Given the description of an element on the screen output the (x, y) to click on. 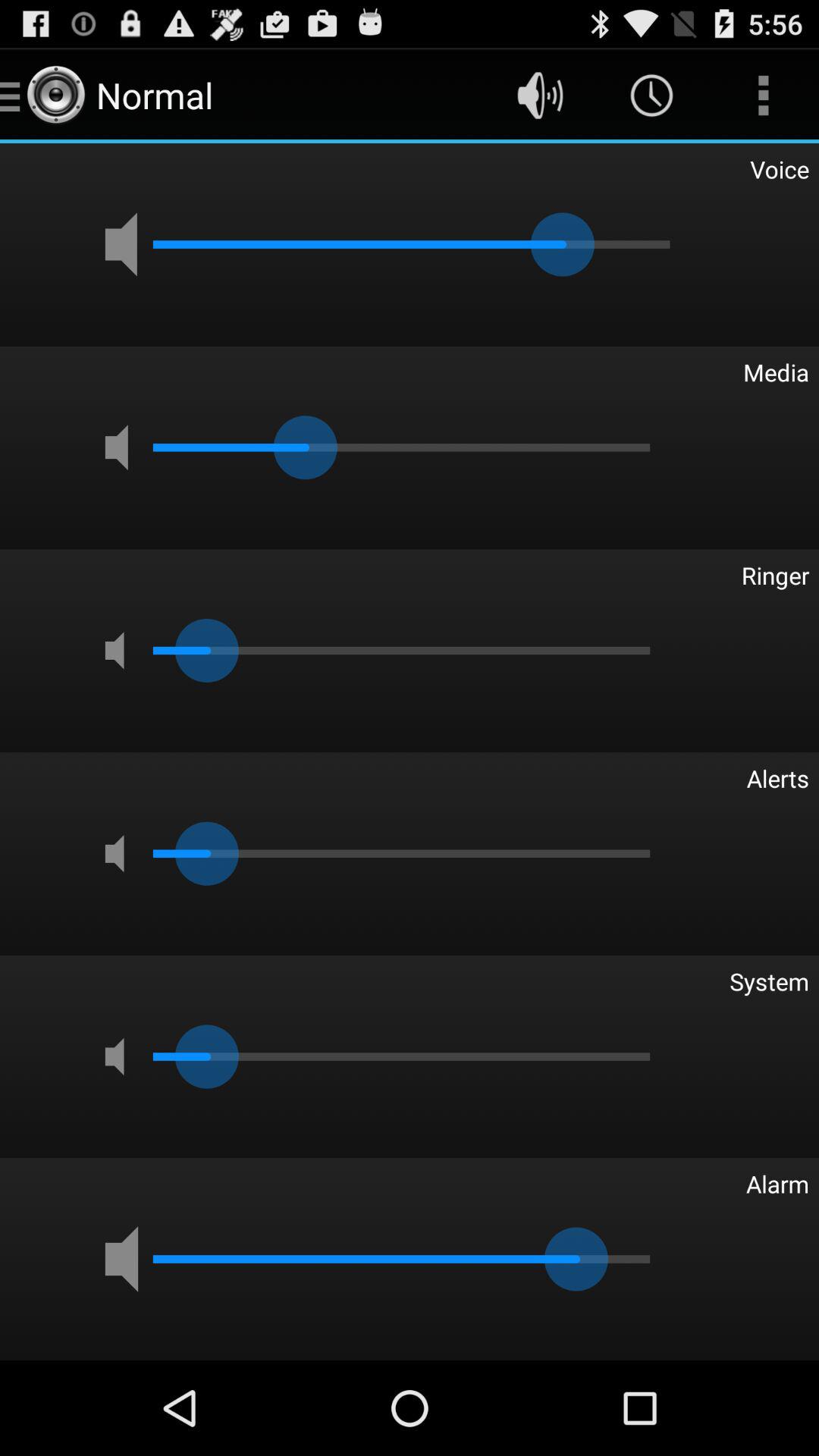
press item next to the normal icon (540, 95)
